Given the description of an element on the screen output the (x, y) to click on. 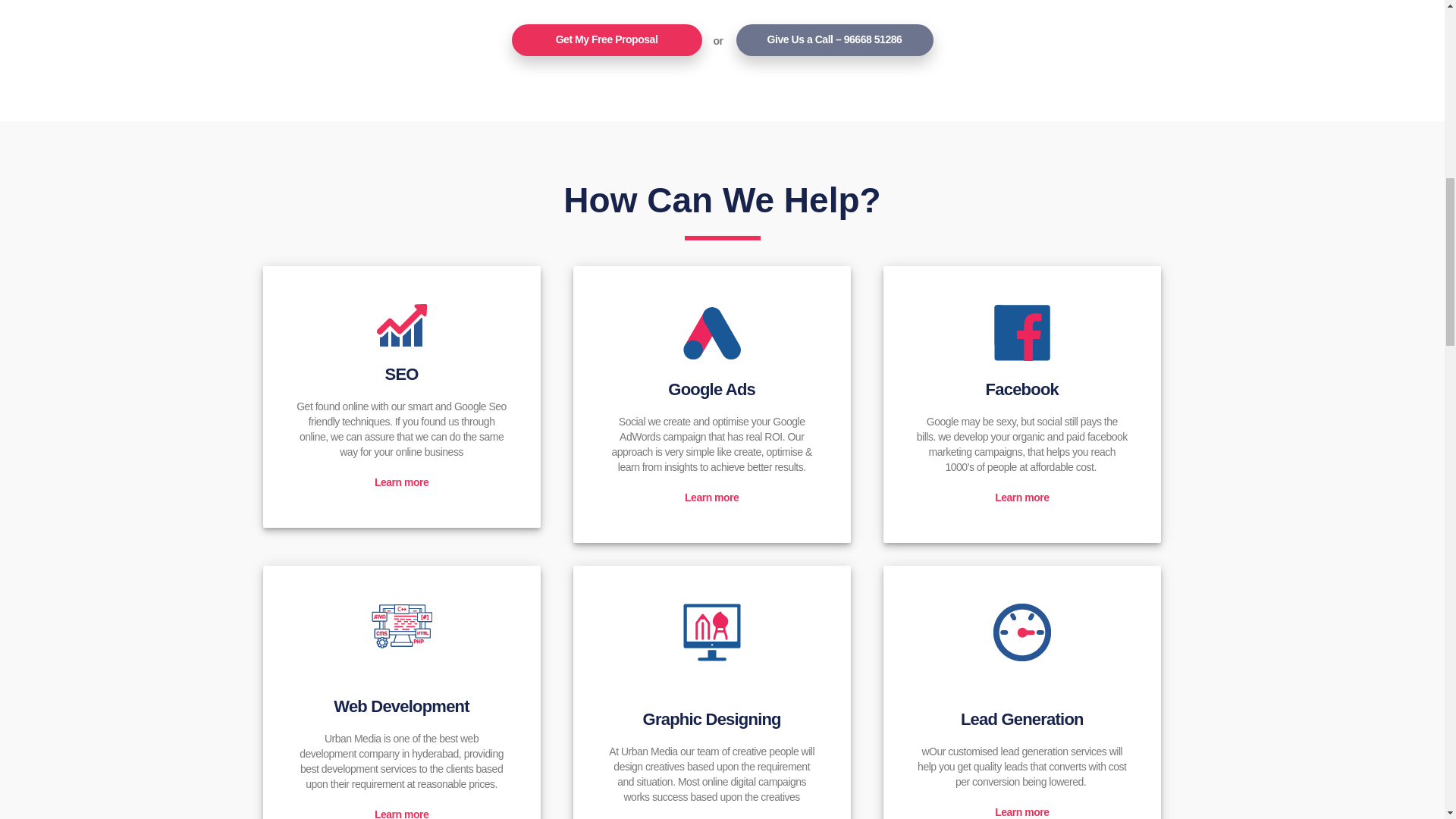
Learn more (1021, 497)
Learn more (401, 481)
Learn more (401, 813)
Learn more (1021, 811)
Learn more (711, 497)
